Given the description of an element on the screen output the (x, y) to click on. 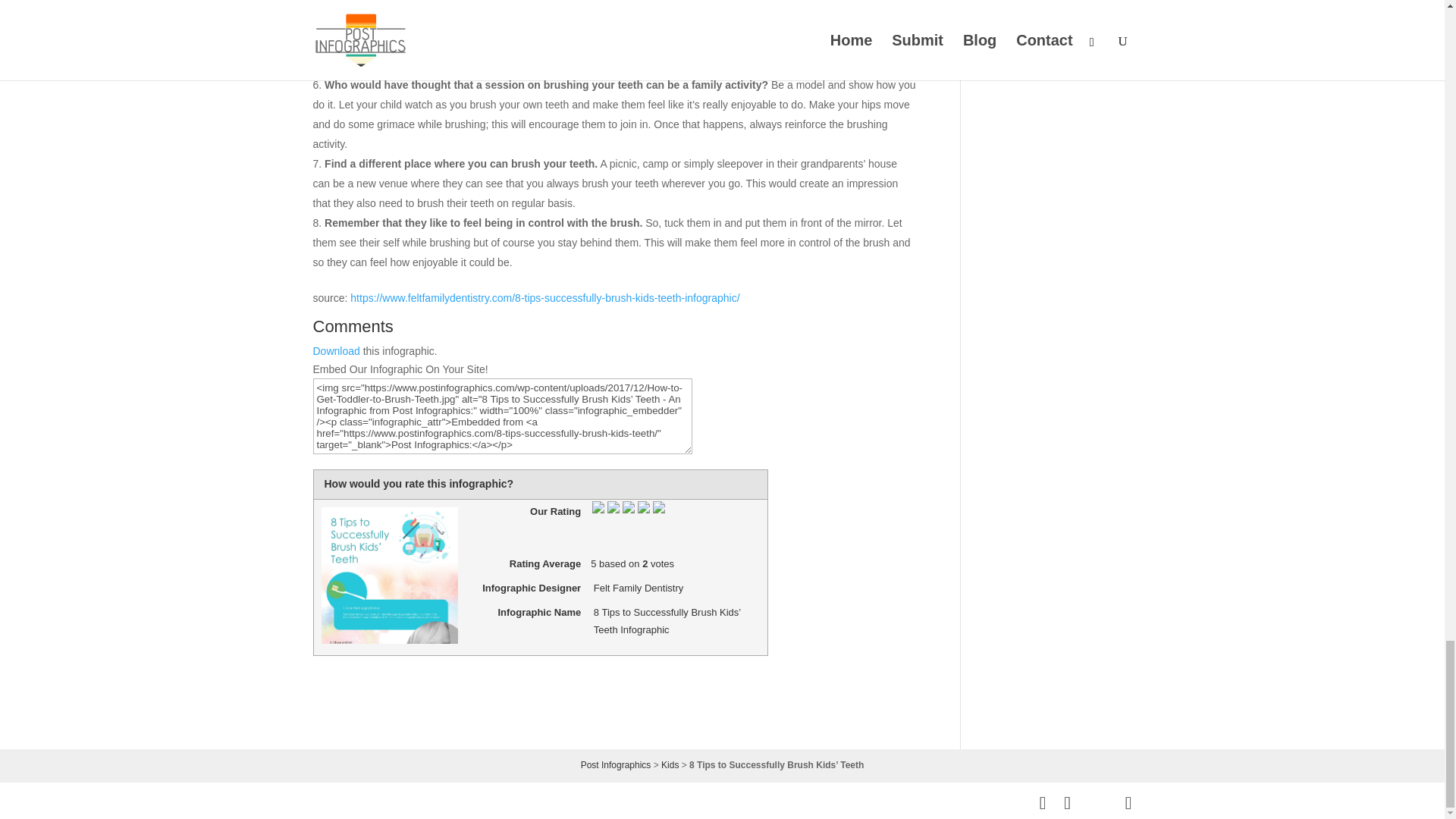
5 (748, 484)
4 (736, 484)
3 (723, 484)
1 (697, 484)
4 (736, 484)
Download (336, 350)
1 (697, 484)
100 (401, 385)
Cancel Rating (685, 484)
3 (723, 484)
